Given the description of an element on the screen output the (x, y) to click on. 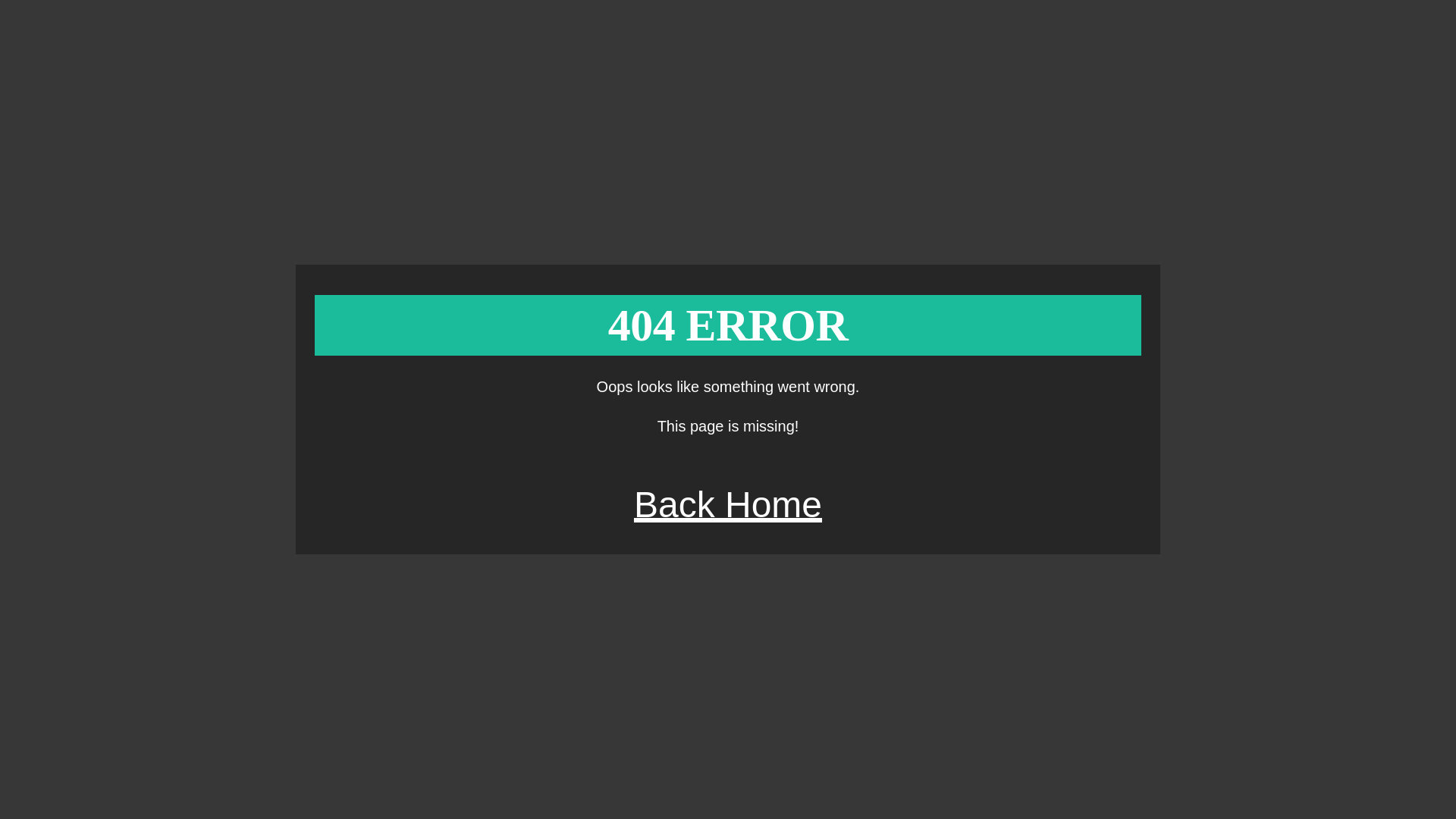
Back Home Element type: text (727, 504)
